Given the description of an element on the screen output the (x, y) to click on. 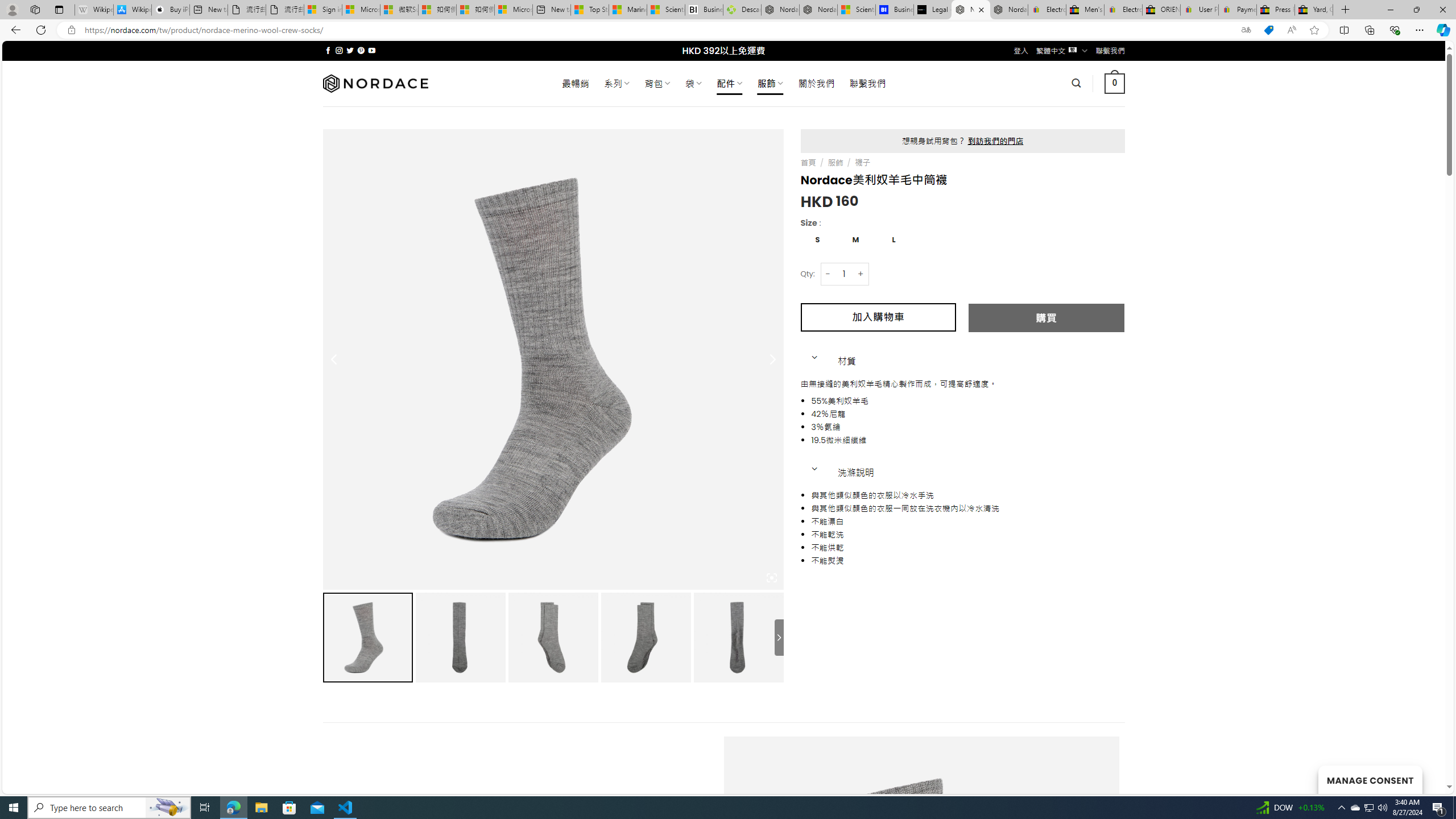
This site has coupons! Shopping in Microsoft Edge (1268, 29)
